Given the description of an element on the screen output the (x, y) to click on. 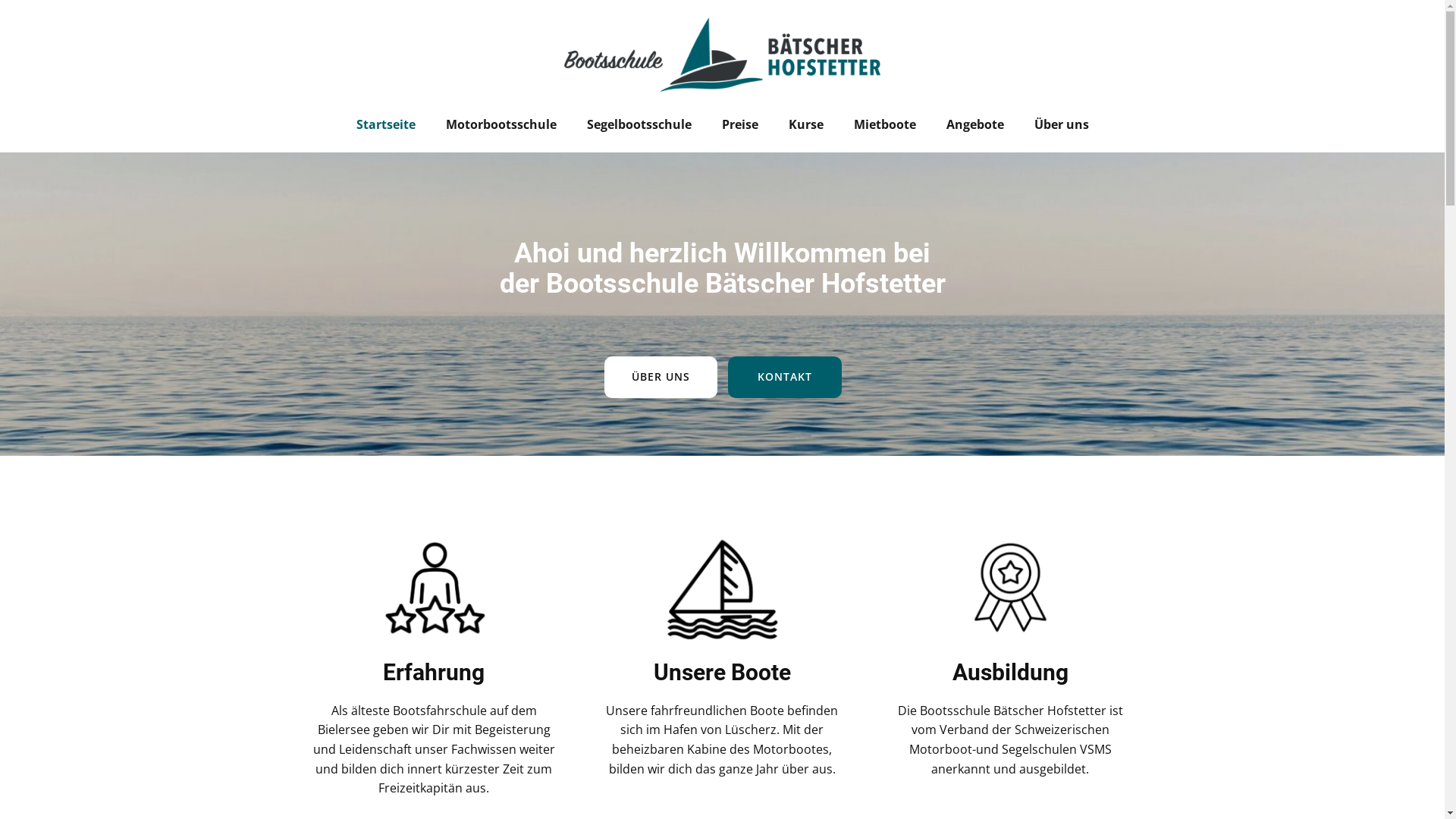
Motorbootsschule Element type: text (501, 124)
Startseite Element type: text (385, 124)
KONTAKT Element type: text (784, 376)
Startseite Element type: hover (721, 54)
Angebote Element type: text (974, 124)
Mietboote Element type: text (884, 124)
Kurse Element type: text (806, 124)
Segelbootsschule Element type: text (639, 124)
Preise Element type: text (739, 124)
